Given the description of an element on the screen output the (x, y) to click on. 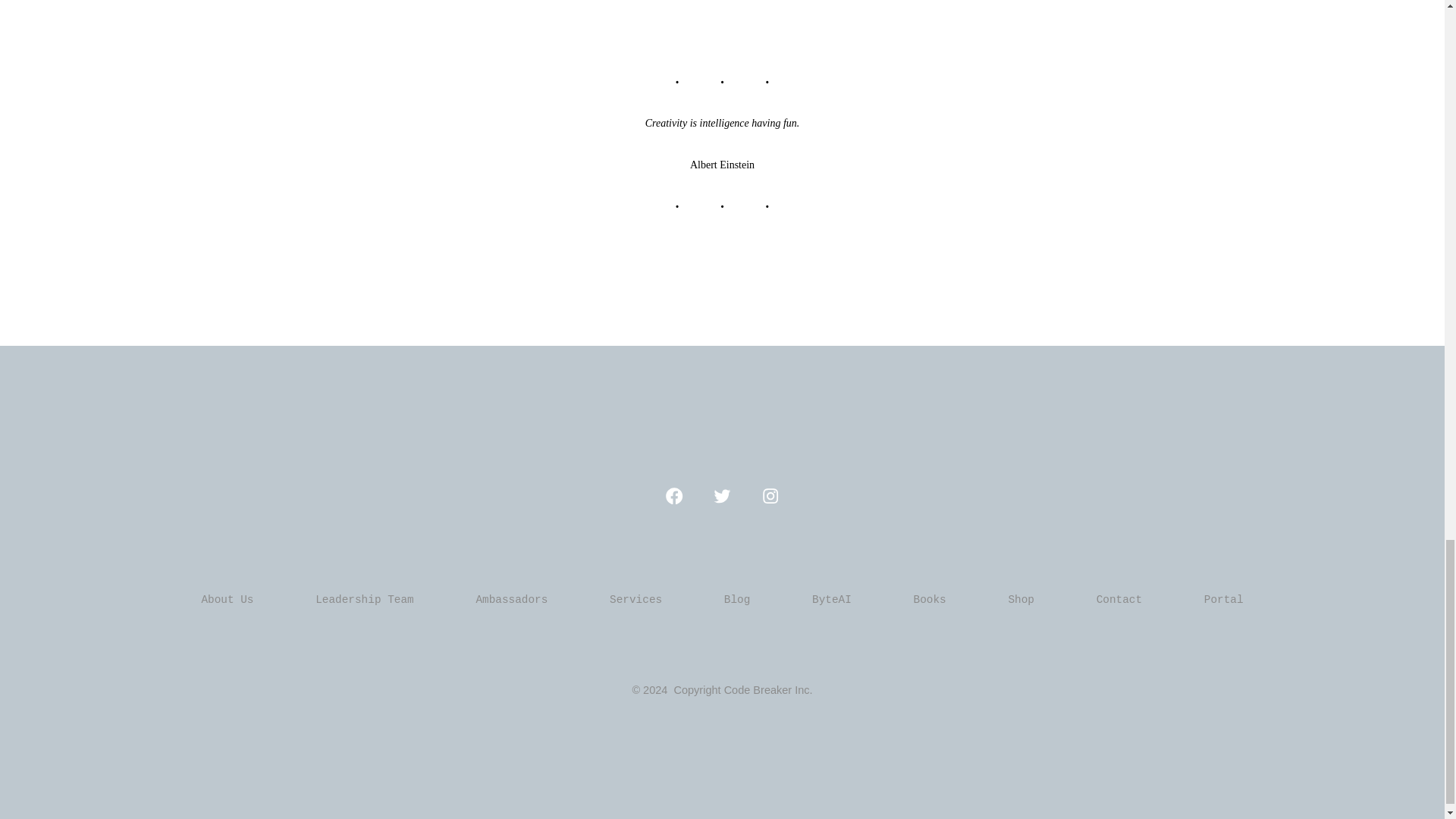
Open Facebook in a new tab (673, 495)
